Given the description of an element on the screen output the (x, y) to click on. 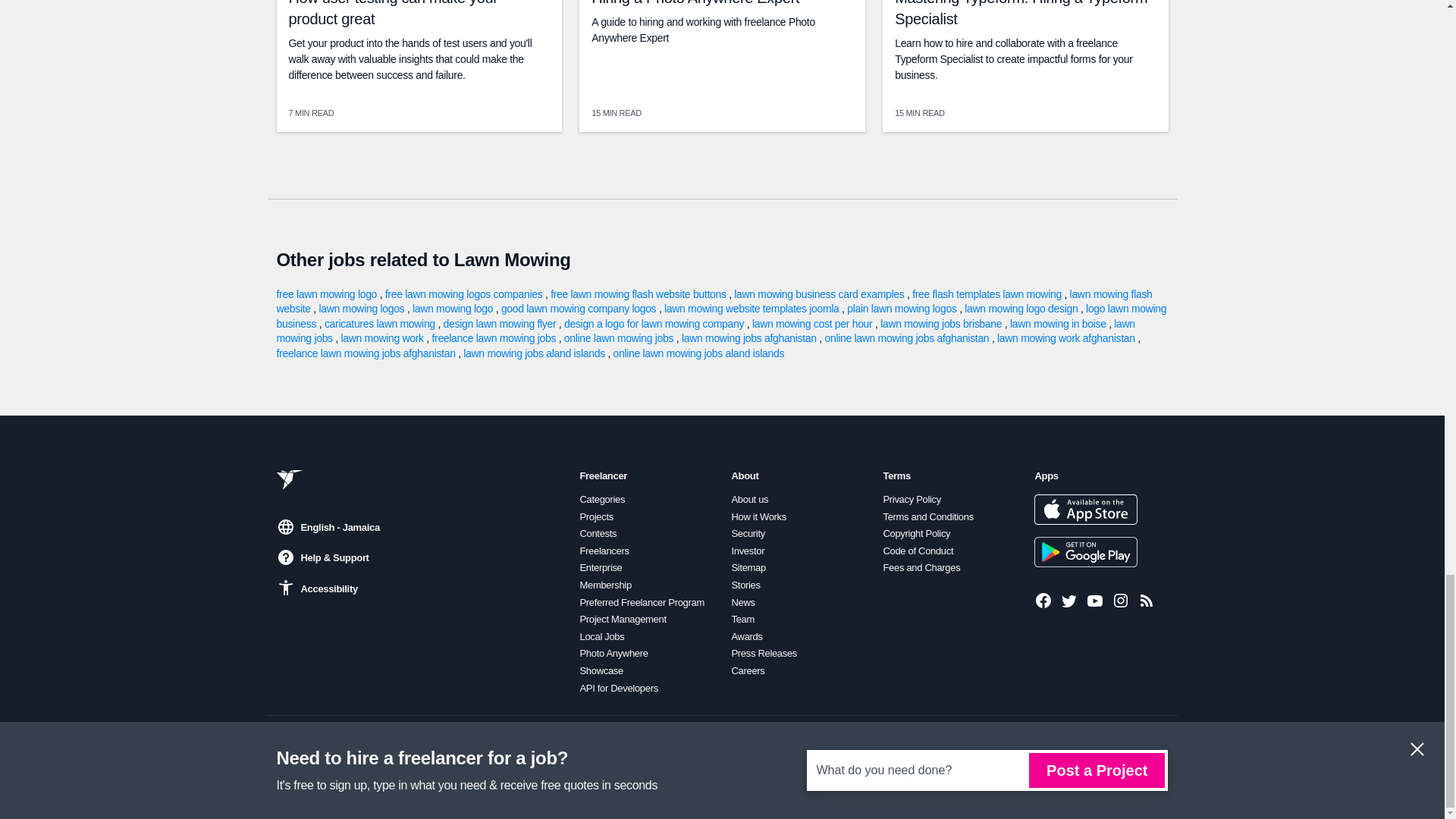
Freelancer on Youtube (1094, 600)
free lawn mowing flash website buttons (639, 294)
free lawn mowing logos companies (464, 294)
free lawn mowing logo (327, 294)
Download on the App Store (1085, 509)
Freelancer on Facebook (1042, 600)
Freelancer on Twitter (1068, 600)
Latest Projects (1146, 600)
Mastering Typeform: Hiring a Typeform Specialist (1021, 13)
Hiring a Photo Anywhere Expert (695, 2)
Get it on Google Play (1085, 552)
Freelancer on Instagram (1120, 600)
How user testing can make your product great (392, 13)
